Given the description of an element on the screen output the (x, y) to click on. 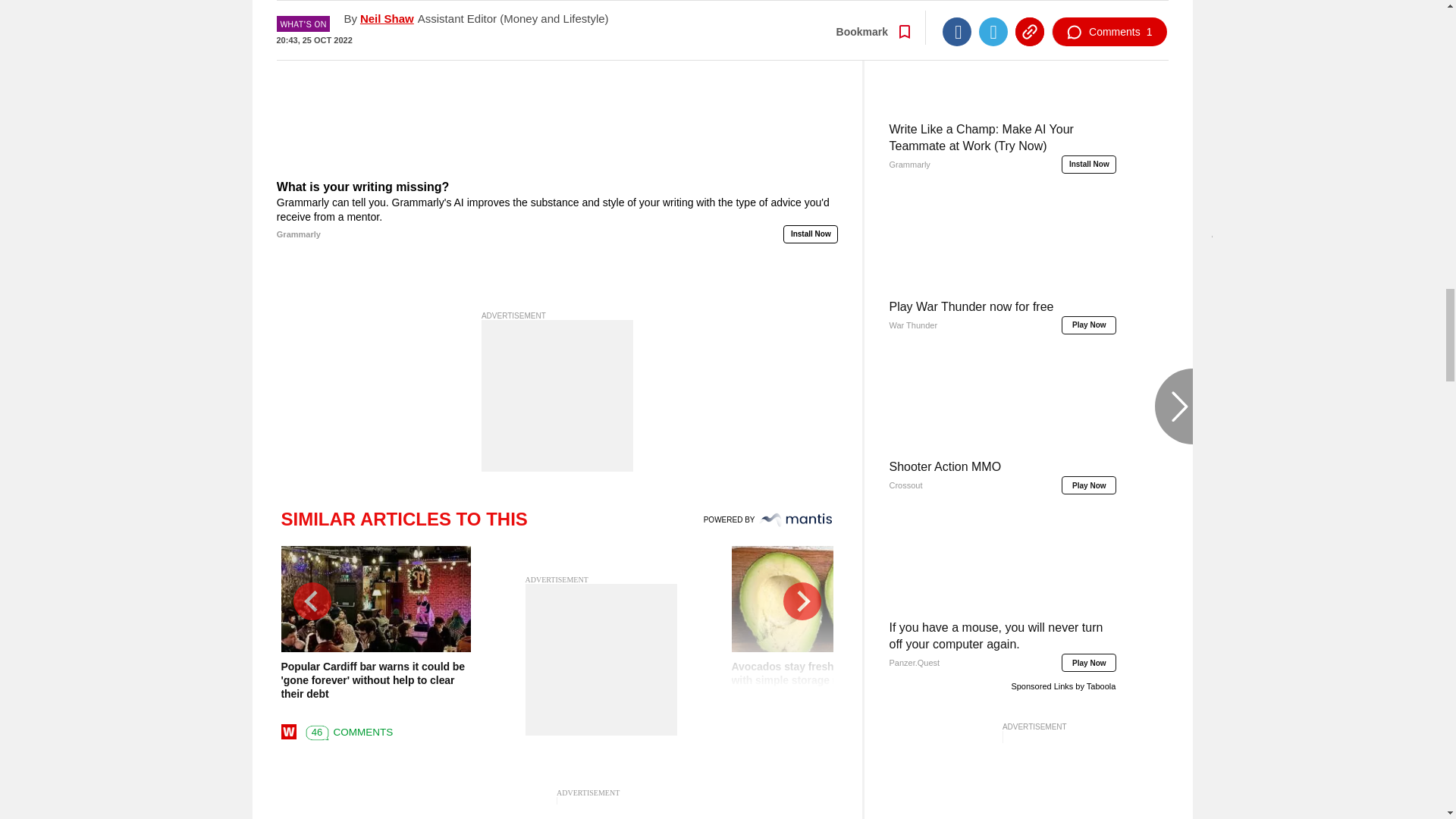
What is your writing missing? (557, 211)
What is your writing missing? (557, 87)
